Given the description of an element on the screen output the (x, y) to click on. 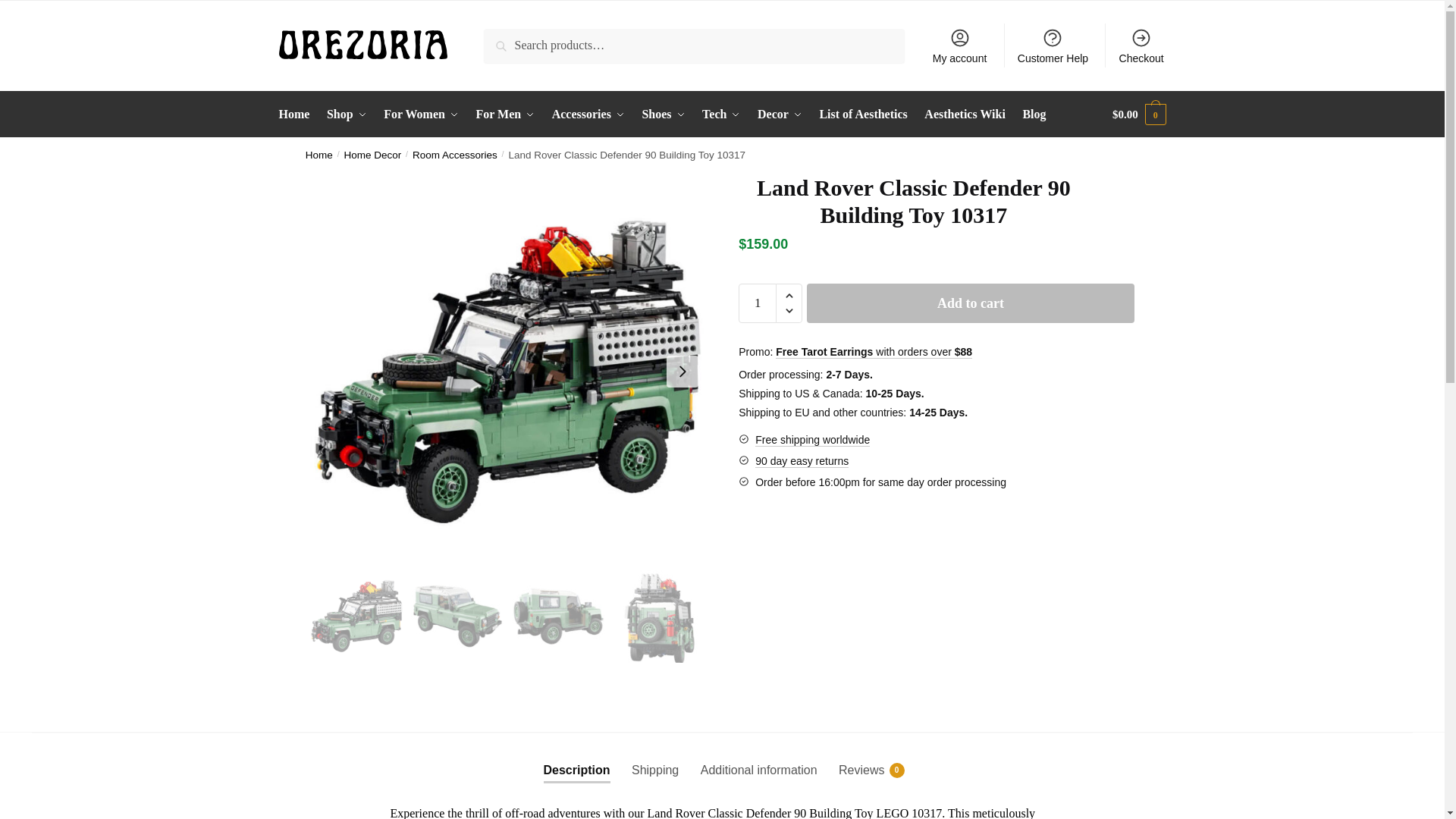
1 (757, 302)
View your shopping cart (1139, 114)
My account (959, 45)
For Women (420, 114)
Checkout (1141, 45)
Search (504, 38)
Aesthetics Wiki (964, 114)
List of Aesthetics (863, 114)
Customer Help (1053, 45)
